Given the description of an element on the screen output the (x, y) to click on. 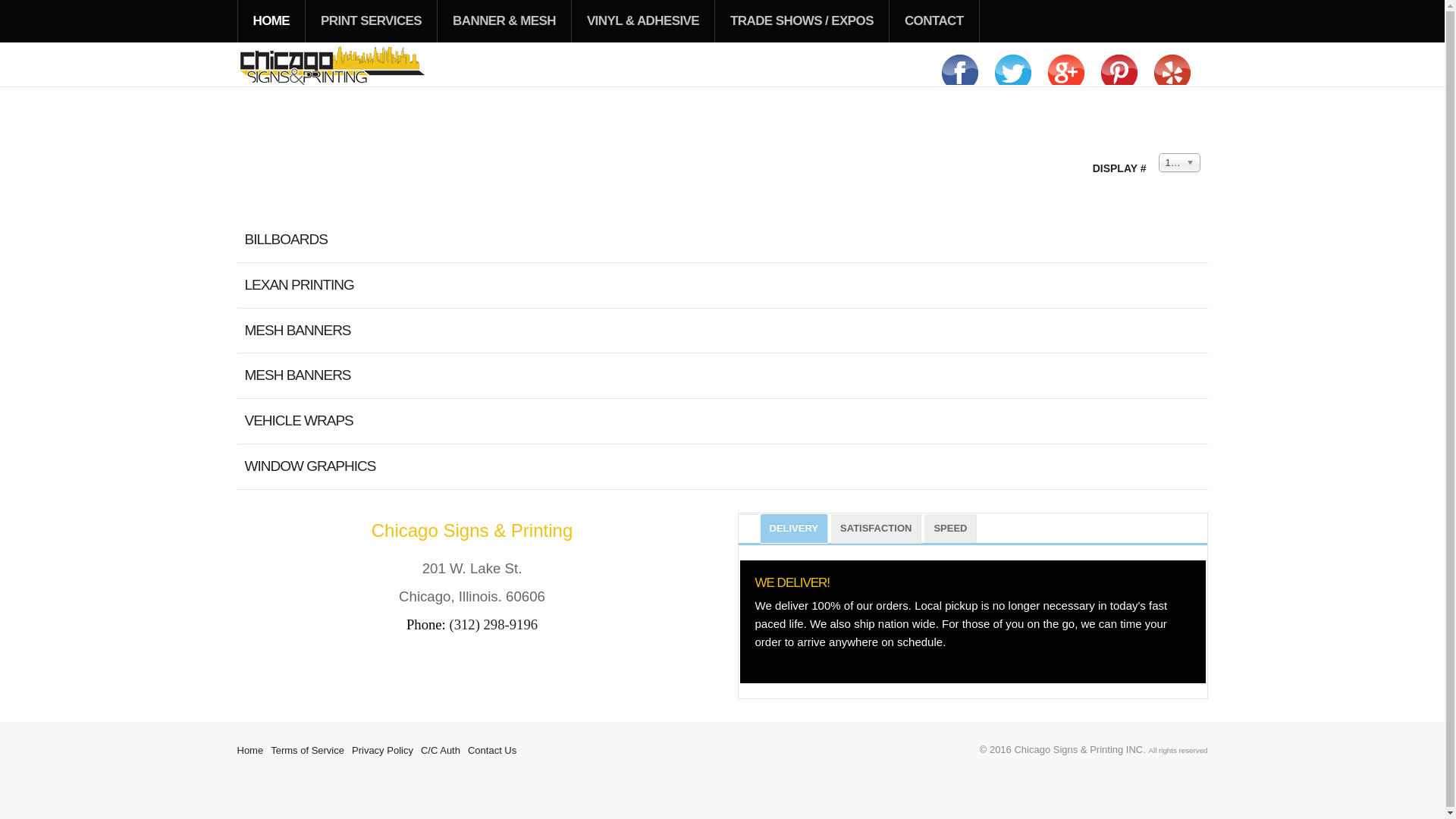
CONTACT (933, 21)
MESH BANNERS (297, 330)
MESH BANNERS (297, 374)
WINDOW GRAPHICS (309, 465)
HOME (271, 21)
100 (1178, 162)
PRINT SERVICES (370, 21)
BILLBOARDS (285, 238)
LEXAN PRINTING (298, 284)
VEHICLE WRAPS (298, 420)
